Given the description of an element on the screen output the (x, y) to click on. 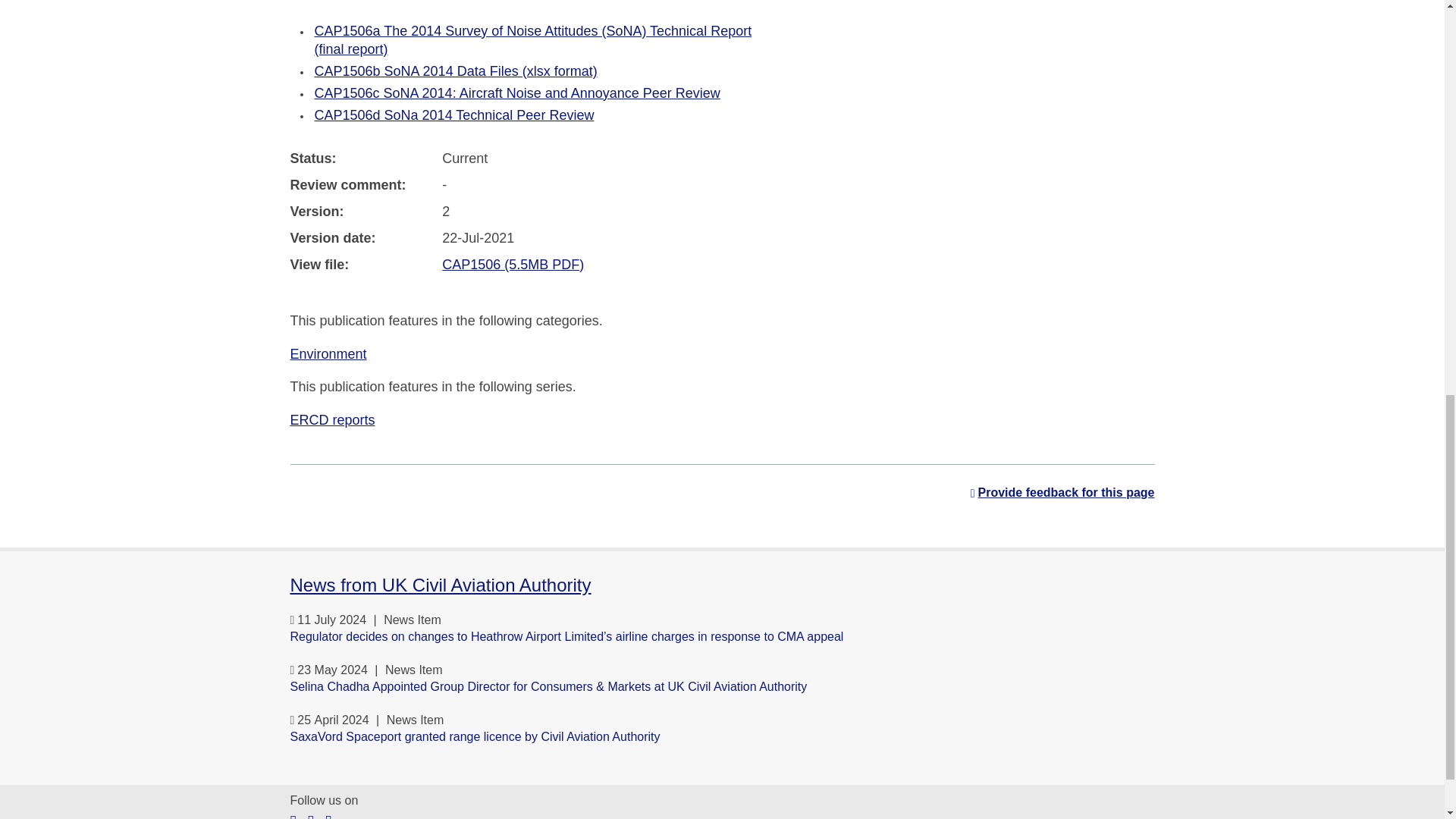
Follow us on YouTube (310, 816)
News from UK Civil Aviation Authority (440, 584)
Environment (327, 353)
CAP1506c SoNA 2014: Aircraft Noise and Annoyance Peer Review (516, 92)
ERCD reports (331, 419)
Follow us on Linkedin (327, 816)
Follow us on X (293, 816)
CAP1506d SoNa 2014 Technical Peer Review (454, 114)
Provide feedback for this page (1062, 492)
